Given the description of an element on the screen output the (x, y) to click on. 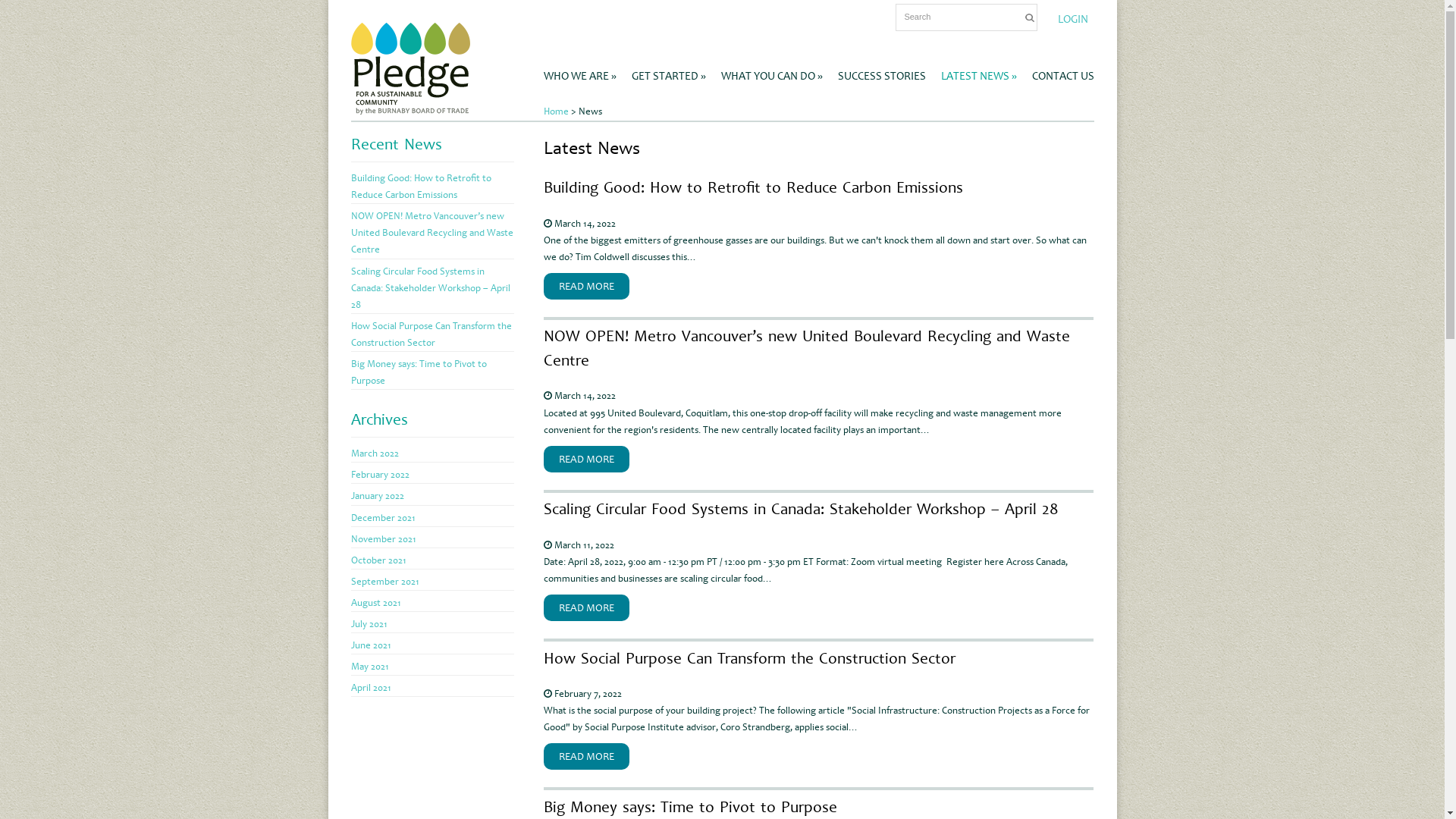
How Social Purpose Can Transform the Construction Sector Element type: text (430, 334)
October 2021 Element type: text (377, 560)
August 2021 Element type: text (375, 602)
SUCCESS STORIES Element type: text (880, 68)
June 2021 Element type: text (370, 645)
Burnaby Board of Trade Pledge Element type: hover (409, 107)
Building Good: How to Retrofit to Reduce Carbon Emissions Element type: text (420, 186)
September 2021 Element type: text (384, 581)
February 2022 Element type: text (379, 474)
Big Money says: Time to Pivot to Purpose Element type: text (690, 806)
CONTACT US Element type: text (1062, 68)
READ MORE Element type: text (586, 458)
Home Element type: text (555, 111)
November 2021 Element type: text (382, 539)
READ MORE Element type: text (586, 286)
May 2021 Element type: text (369, 666)
March 2022 Element type: text (374, 453)
Big Money says: Time to Pivot to Purpose Element type: text (418, 371)
LOGIN Element type: text (1072, 19)
READ MORE Element type: text (586, 756)
January 2022 Element type: text (376, 495)
How Social Purpose Can Transform the Construction Sector Element type: text (749, 658)
December 2021 Element type: text (382, 517)
July 2021 Element type: text (368, 624)
READ MORE Element type: text (586, 607)
April 2021 Element type: text (370, 687)
Building Good: How to Retrofit to Reduce Carbon Emissions Element type: text (753, 187)
